Given the description of an element on the screen output the (x, y) to click on. 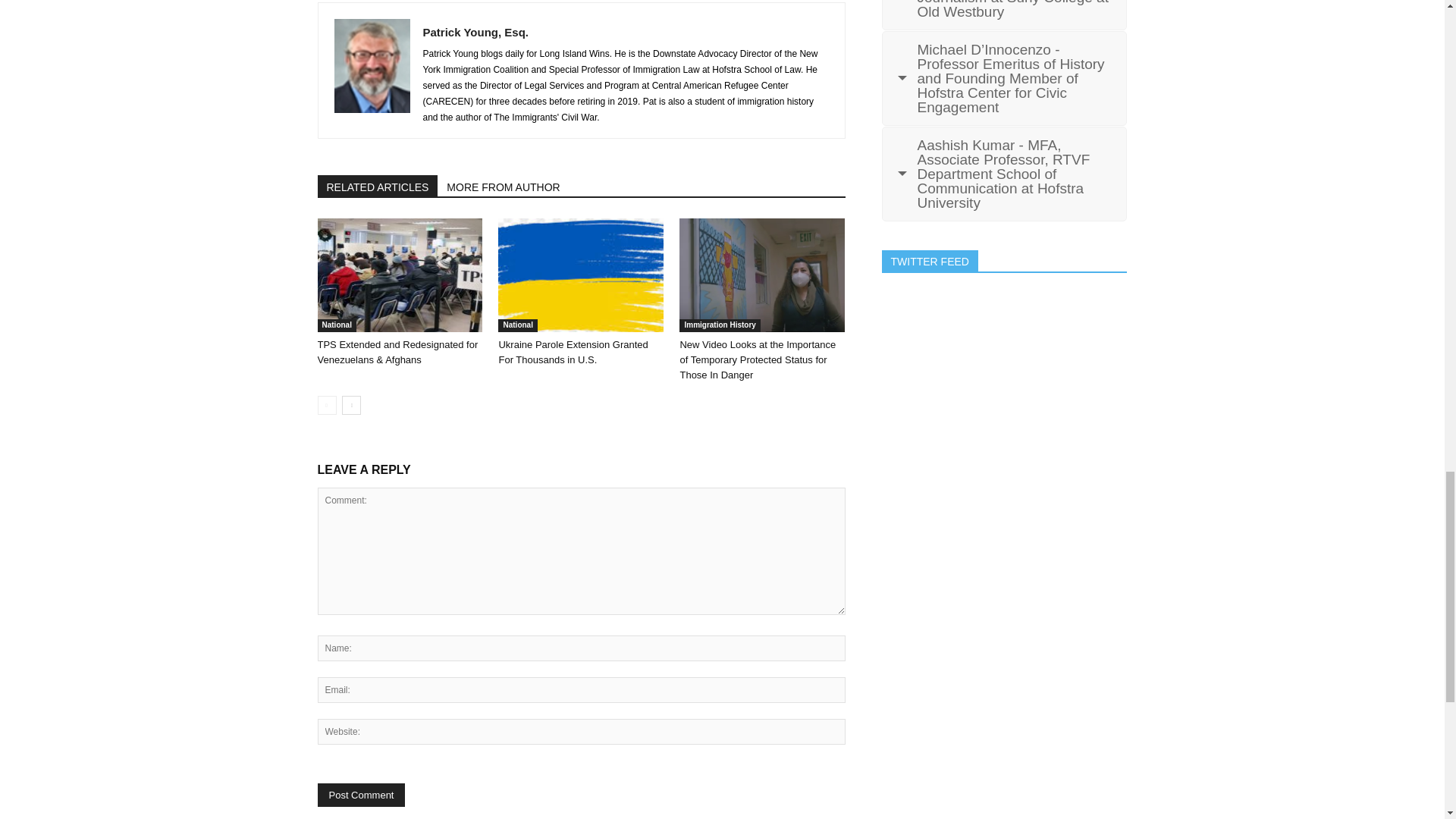
Post Comment (360, 794)
